Given the description of an element on the screen output the (x, y) to click on. 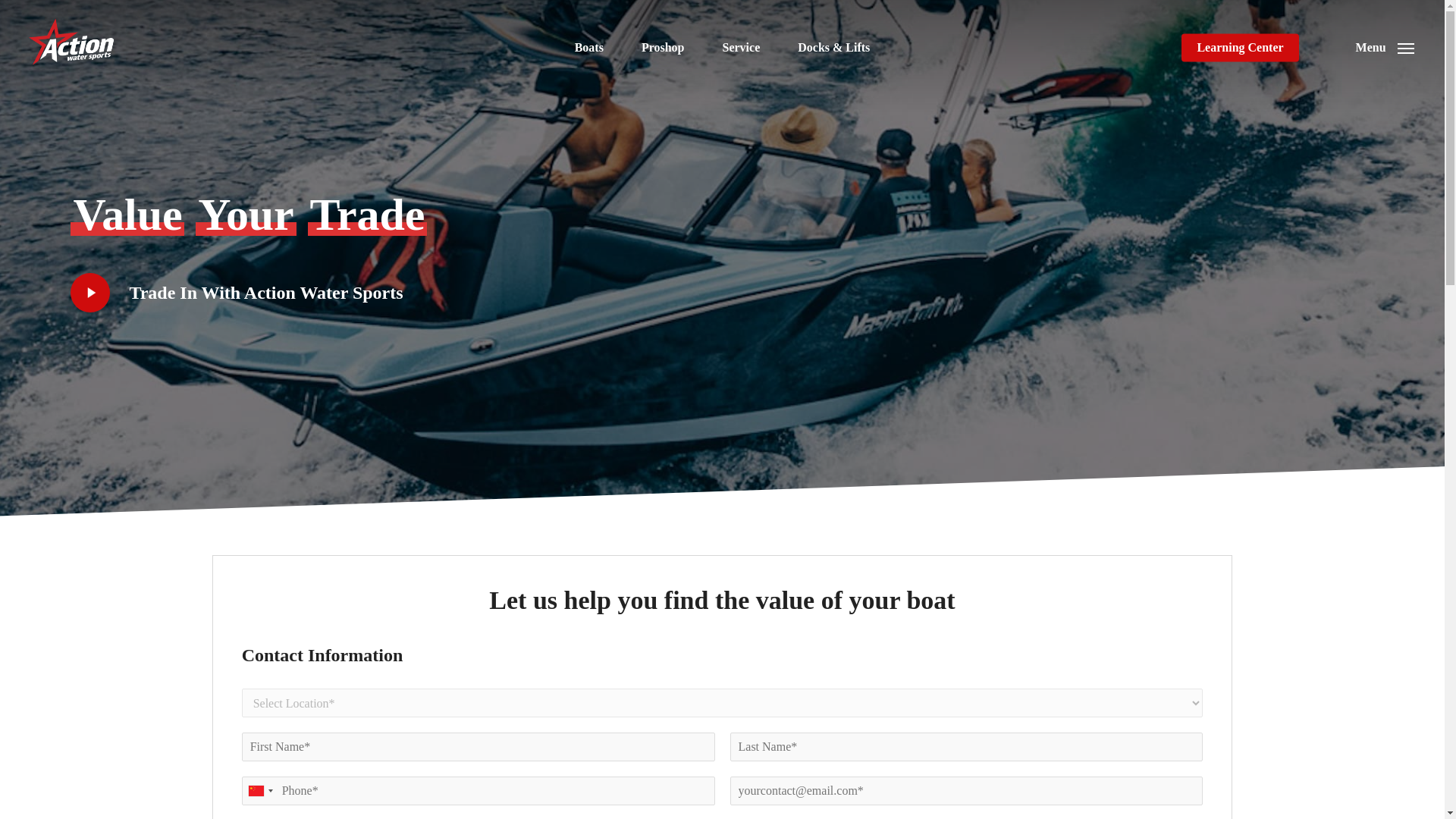
Service (741, 47)
Learning Center (1239, 47)
Menu (1385, 47)
Proshop (663, 47)
Boats (589, 47)
